Given the description of an element on the screen output the (x, y) to click on. 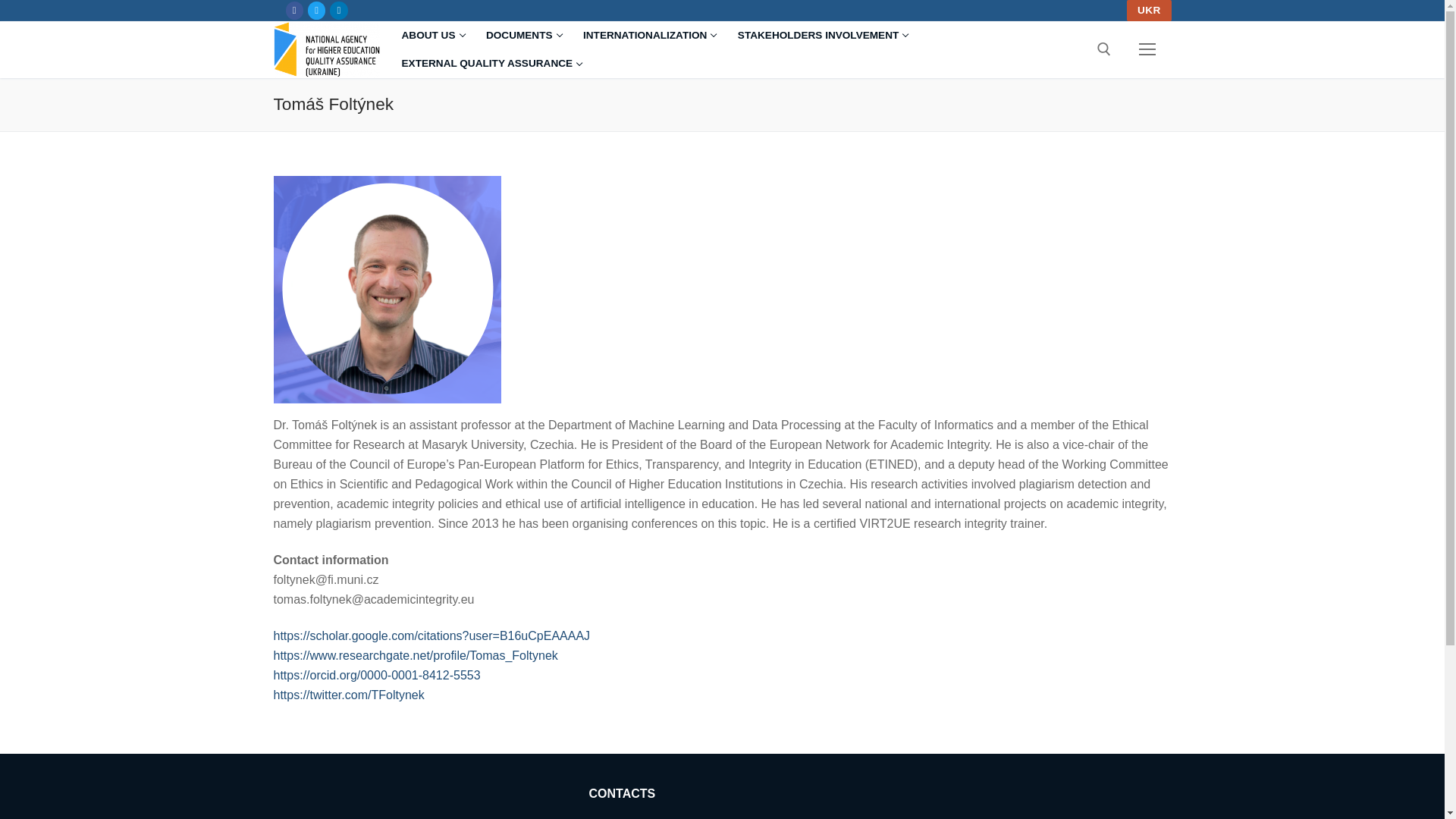
Facebook (648, 35)
UKR (294, 9)
Twitter (490, 63)
